Given the description of an element on the screen output the (x, y) to click on. 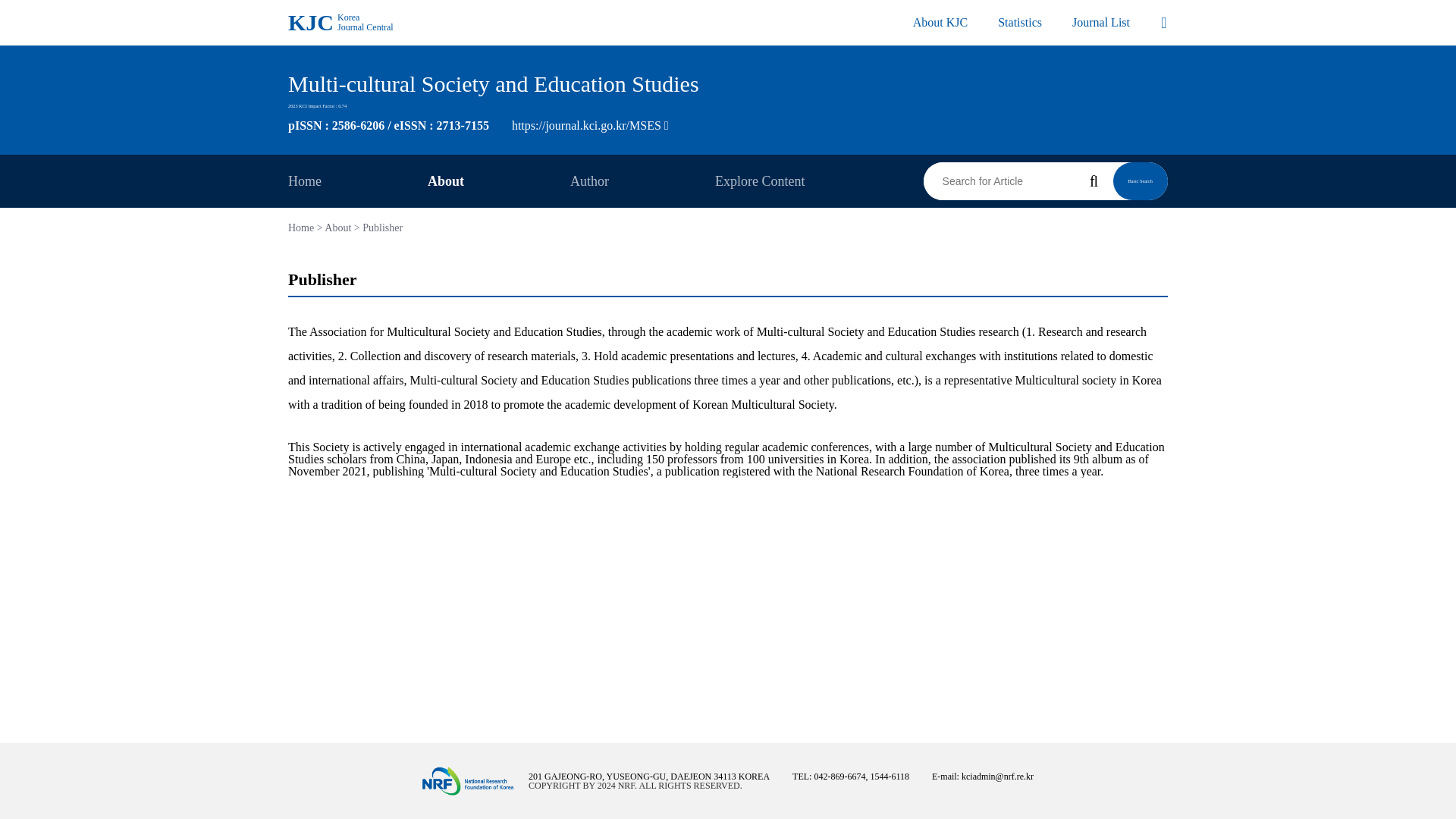
About (340, 22)
Multi-cultural Society and Education Studies (499, 181)
Search for Article (727, 83)
Statistics (999, 180)
Home (1019, 22)
Journal List (358, 181)
About KJC (1100, 22)
